Given the description of an element on the screen output the (x, y) to click on. 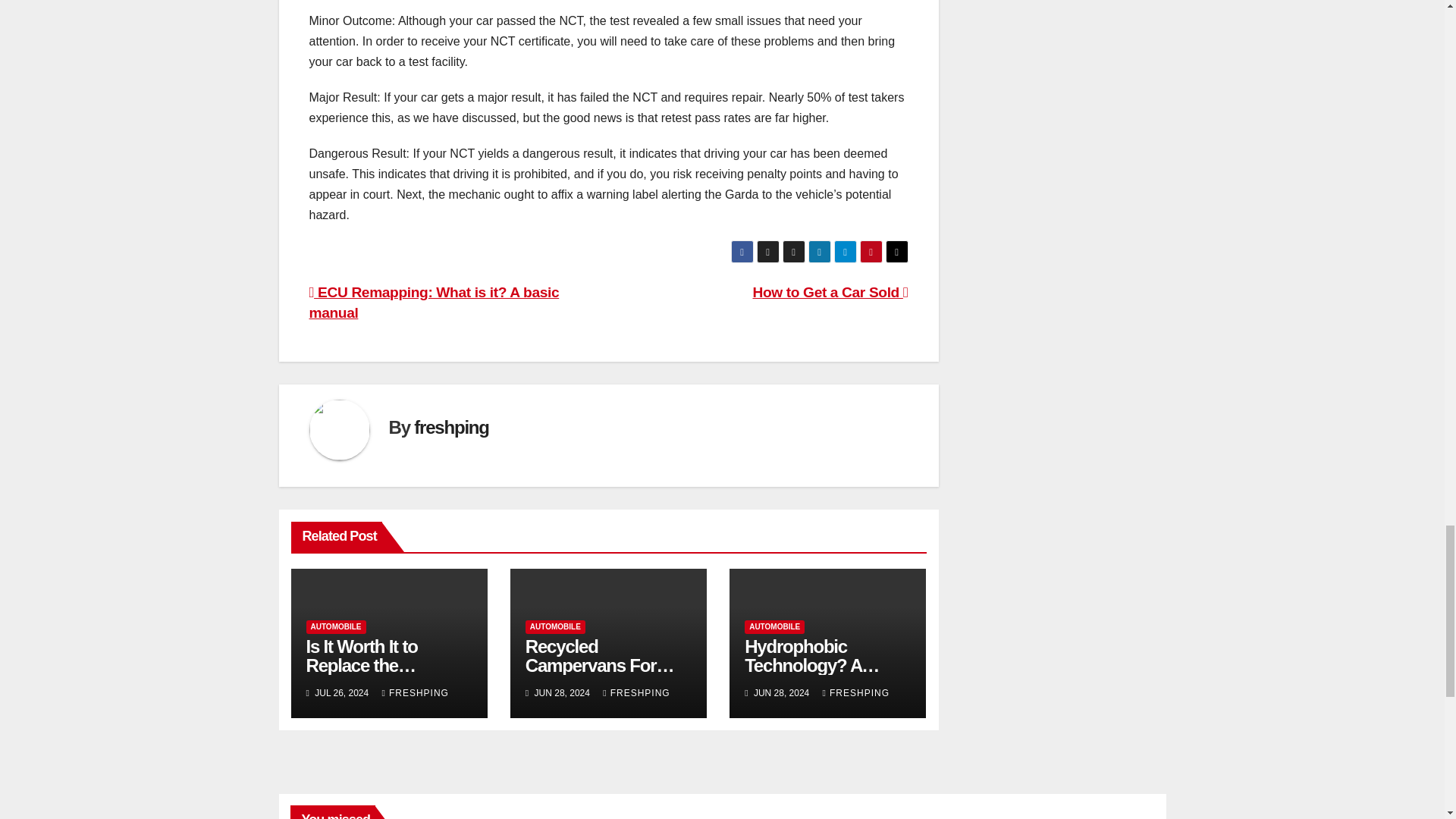
FRESHPING (635, 692)
AUTOMOBILE (555, 626)
AUTOMOBILE (774, 626)
How to Get a Car Sold (829, 292)
Is It Worth It to Replace the Transmission on Your Truck? (371, 674)
AUTOMOBILE (335, 626)
ECU Remapping: What is it? A basic manual (433, 302)
Recycled Campervans For Rent Circle Financial System Basis (605, 674)
